Given the description of an element on the screen output the (x, y) to click on. 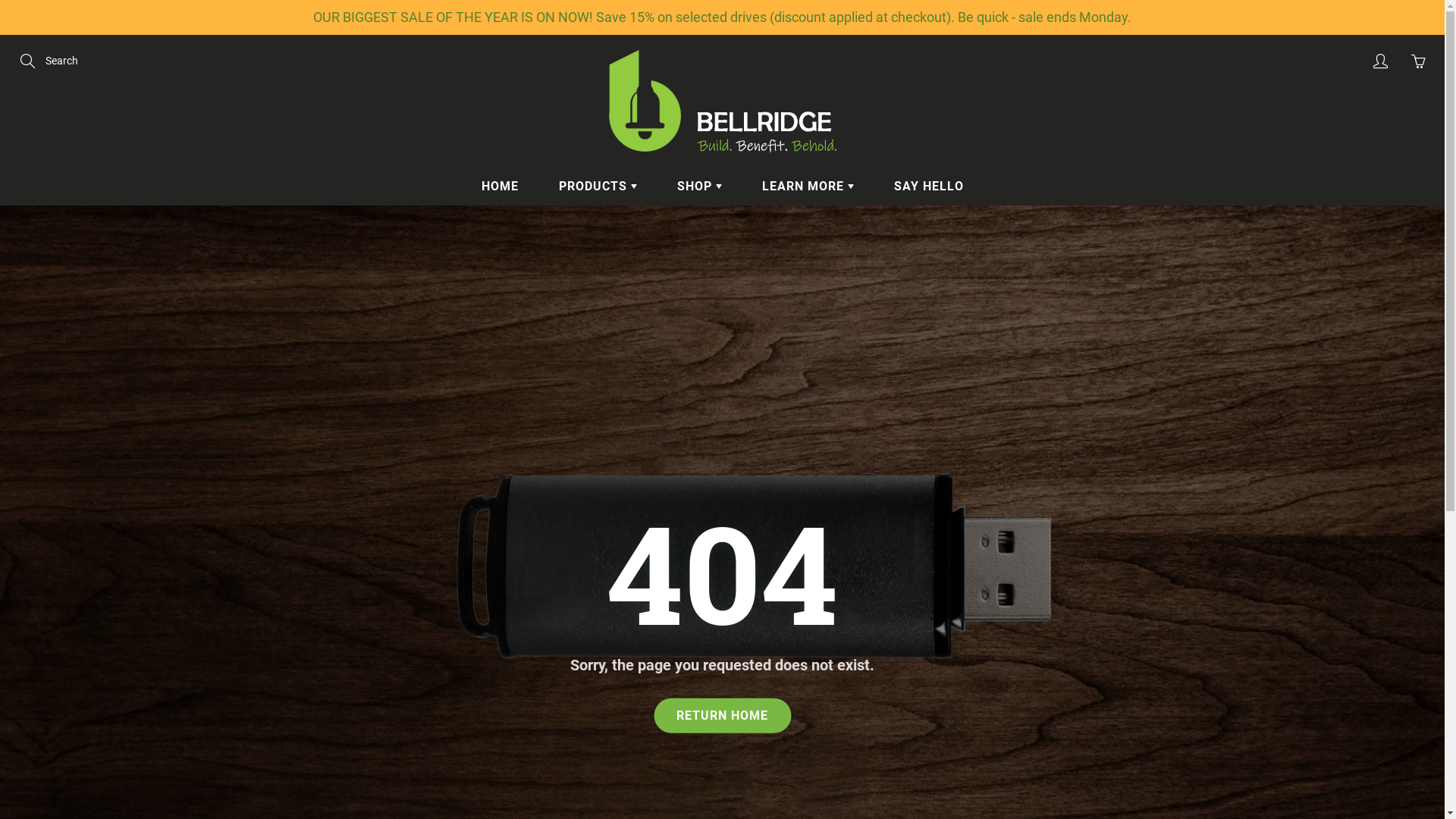
PRODUCTS Element type: text (597, 186)
SHOP Element type: text (699, 186)
HOME Element type: text (499, 186)
LEARN MORE Element type: text (807, 186)
SAY HELLO Element type: text (928, 186)
You have 0 items in your cart Element type: text (1417, 61)
My account Element type: text (1379, 61)
Search Element type: text (28, 61)
RETURN HOME Element type: text (721, 715)
